Given the description of an element on the screen output the (x, y) to click on. 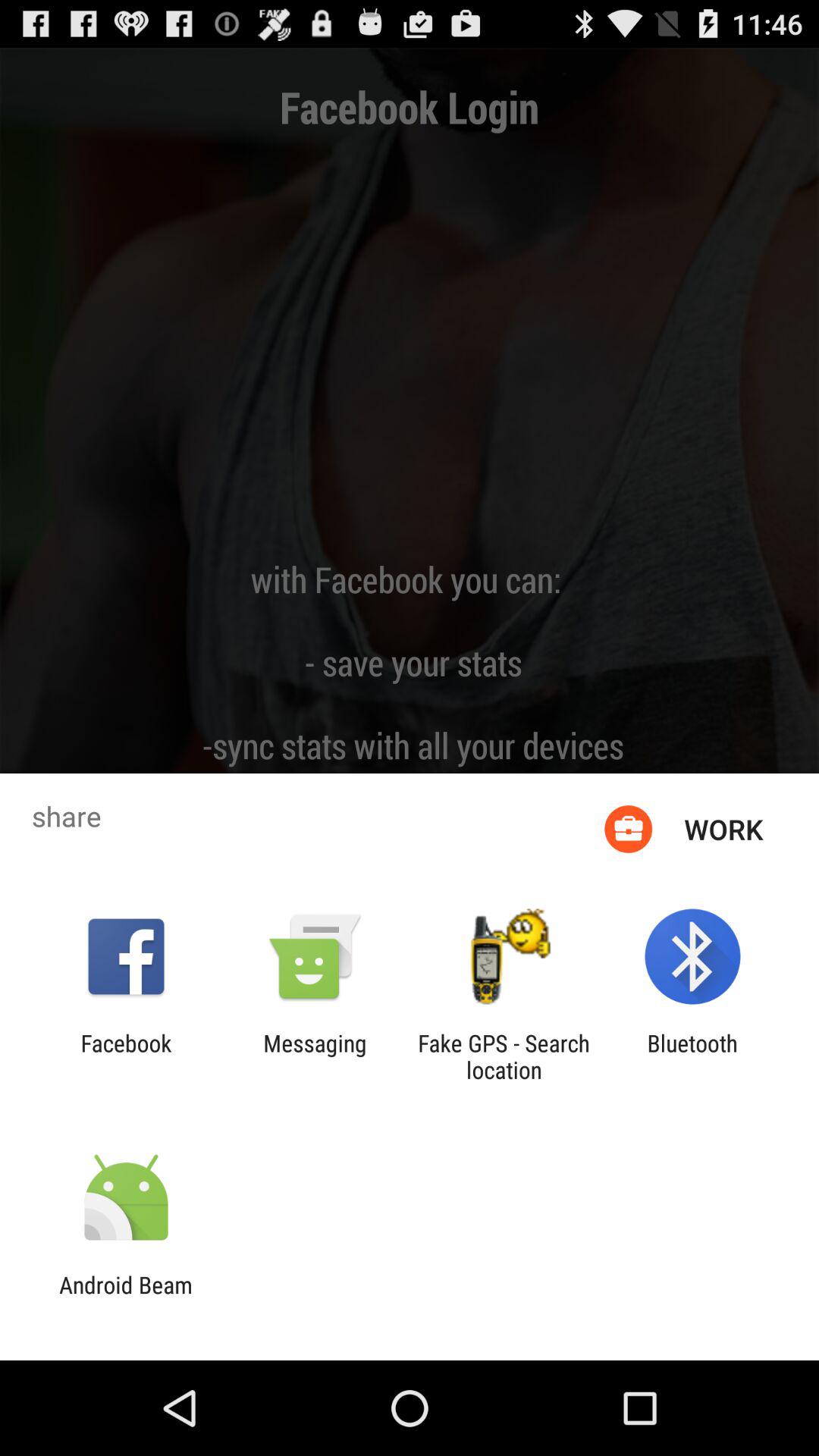
turn off item to the left of the fake gps search icon (314, 1056)
